Given the description of an element on the screen output the (x, y) to click on. 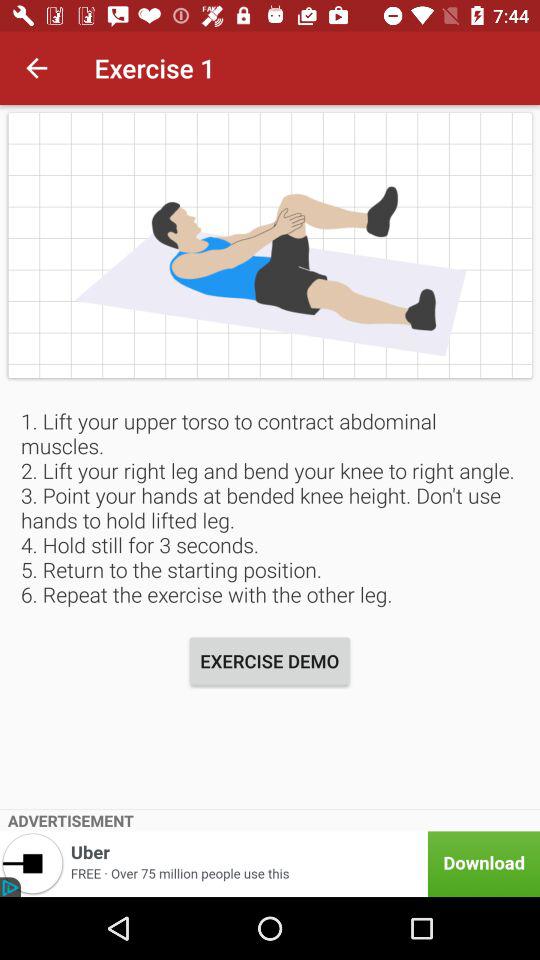
jump until the exercise demo icon (269, 660)
